Given the description of an element on the screen output the (x, y) to click on. 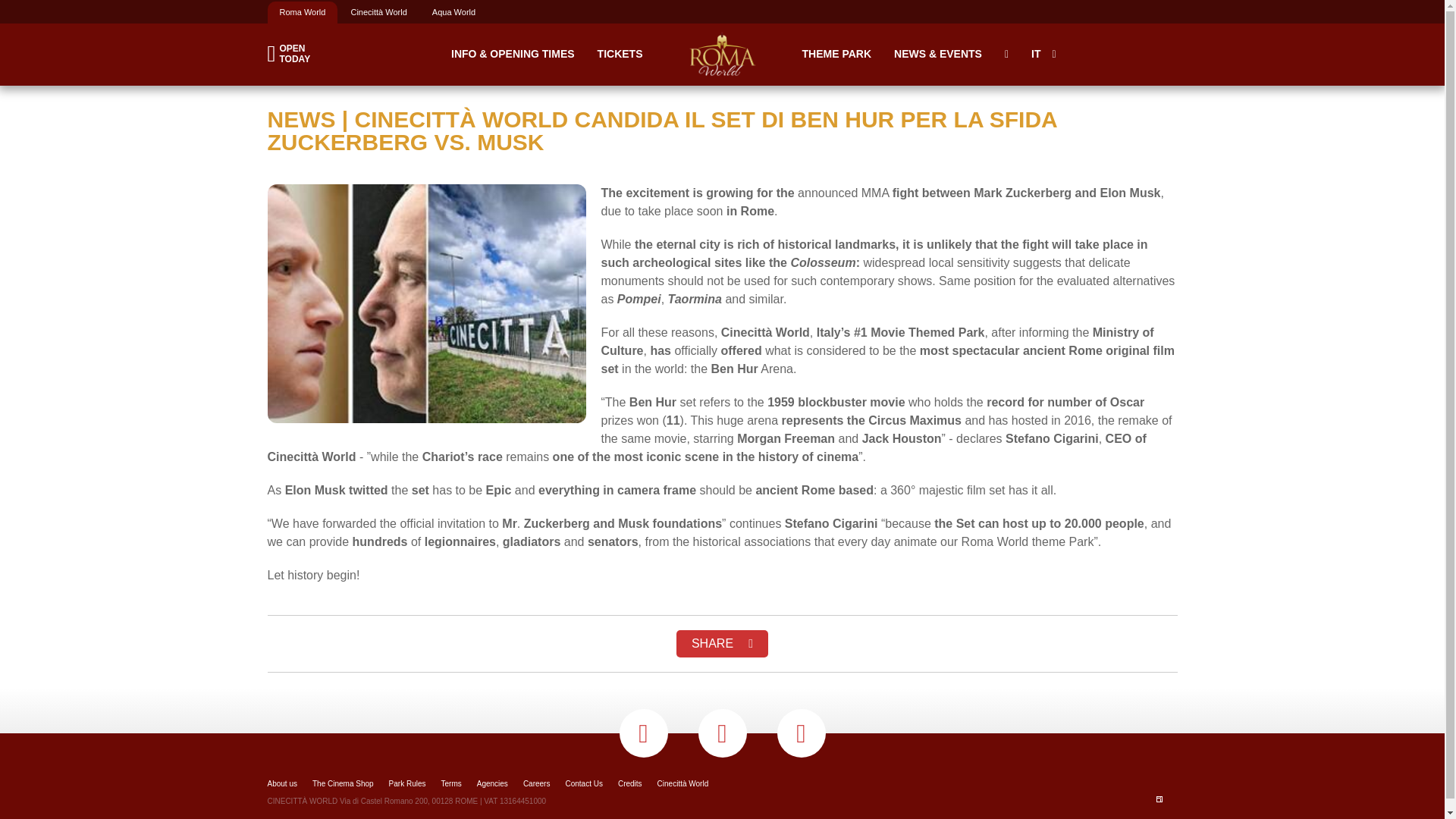
Aqua World (293, 53)
SHARE (453, 12)
About us (722, 643)
The Cinema Shop (281, 783)
